Given the description of an element on the screen output the (x, y) to click on. 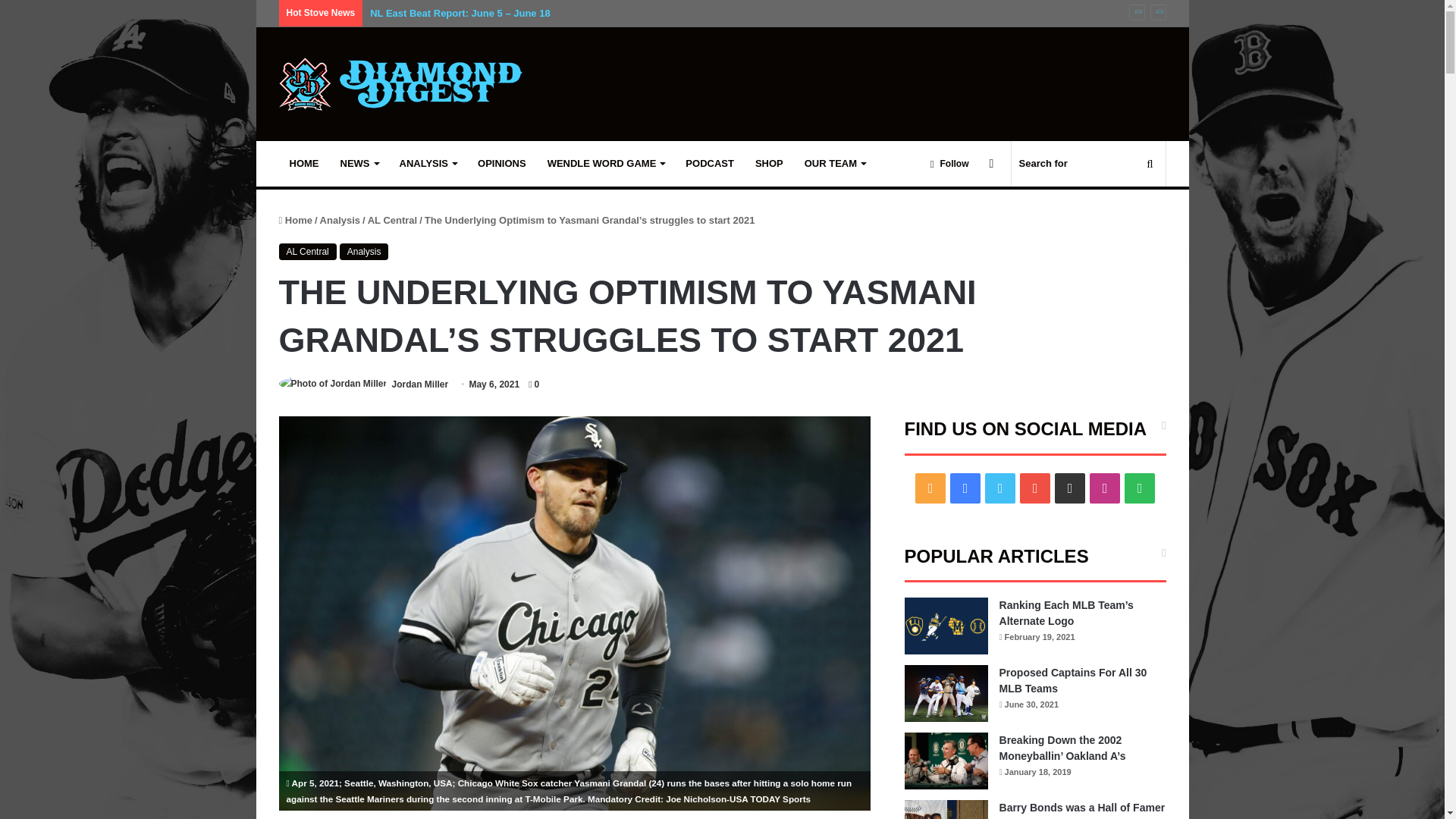
Follow (948, 163)
HOME (304, 163)
NEWS (358, 163)
Jordan Miller (419, 384)
SHOP (768, 163)
Search for (1088, 163)
WENDLE WORD GAME (606, 163)
OUR TEAM (834, 163)
Diamond Digest (400, 83)
ANALYSIS (427, 163)
OPINIONS (502, 163)
PODCAST (709, 163)
